Given the description of an element on the screen output the (x, y) to click on. 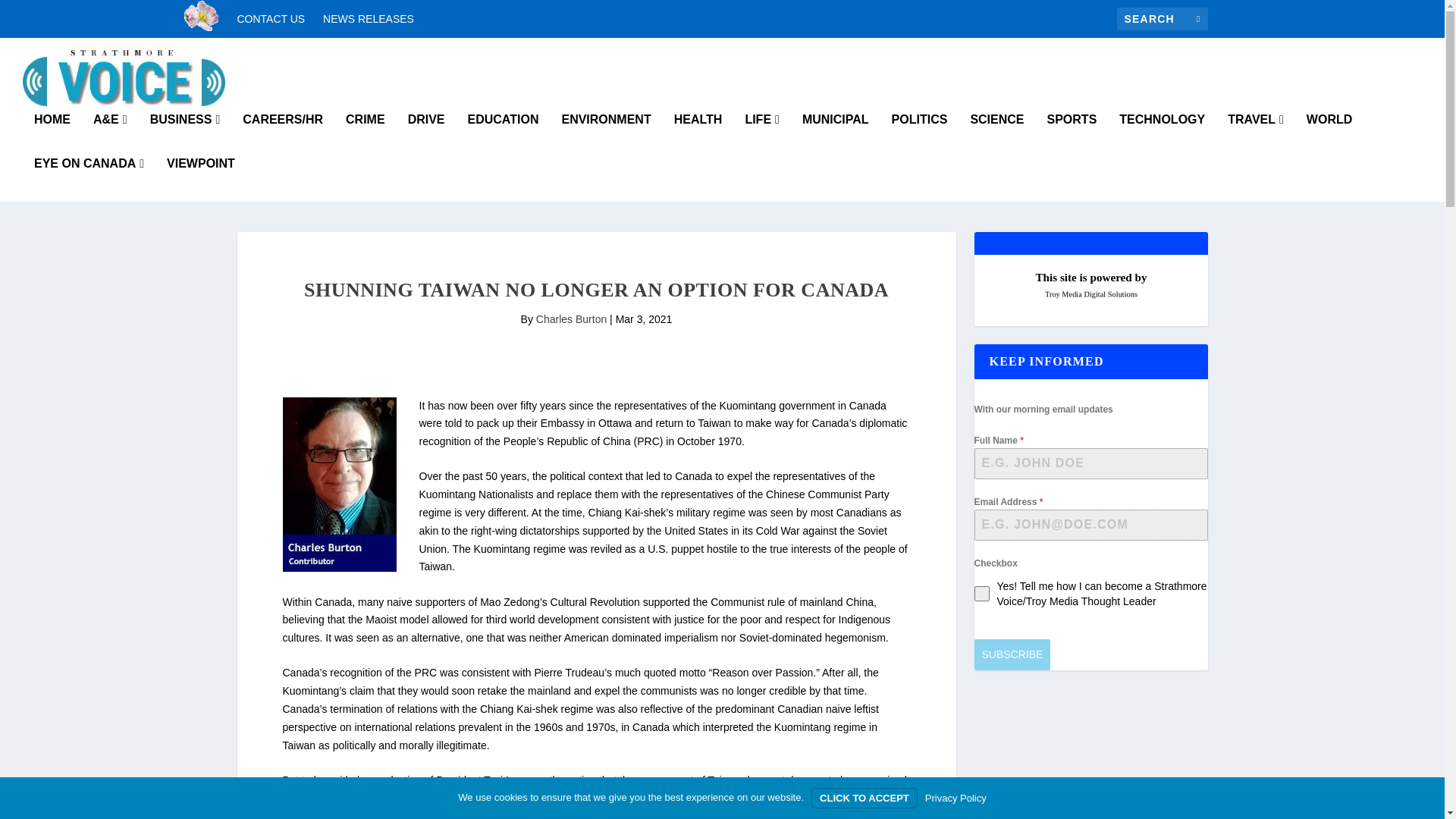
HEALTH (698, 135)
NEWS RELEASES (368, 18)
Posts by Charles Burton (571, 318)
SPORTS (1071, 135)
BUSINESS (185, 135)
CRIME (365, 135)
EDUCATION (502, 135)
MUNICIPAL (835, 135)
SCIENCE (996, 135)
Search for: (1161, 18)
